Given the description of an element on the screen output the (x, y) to click on. 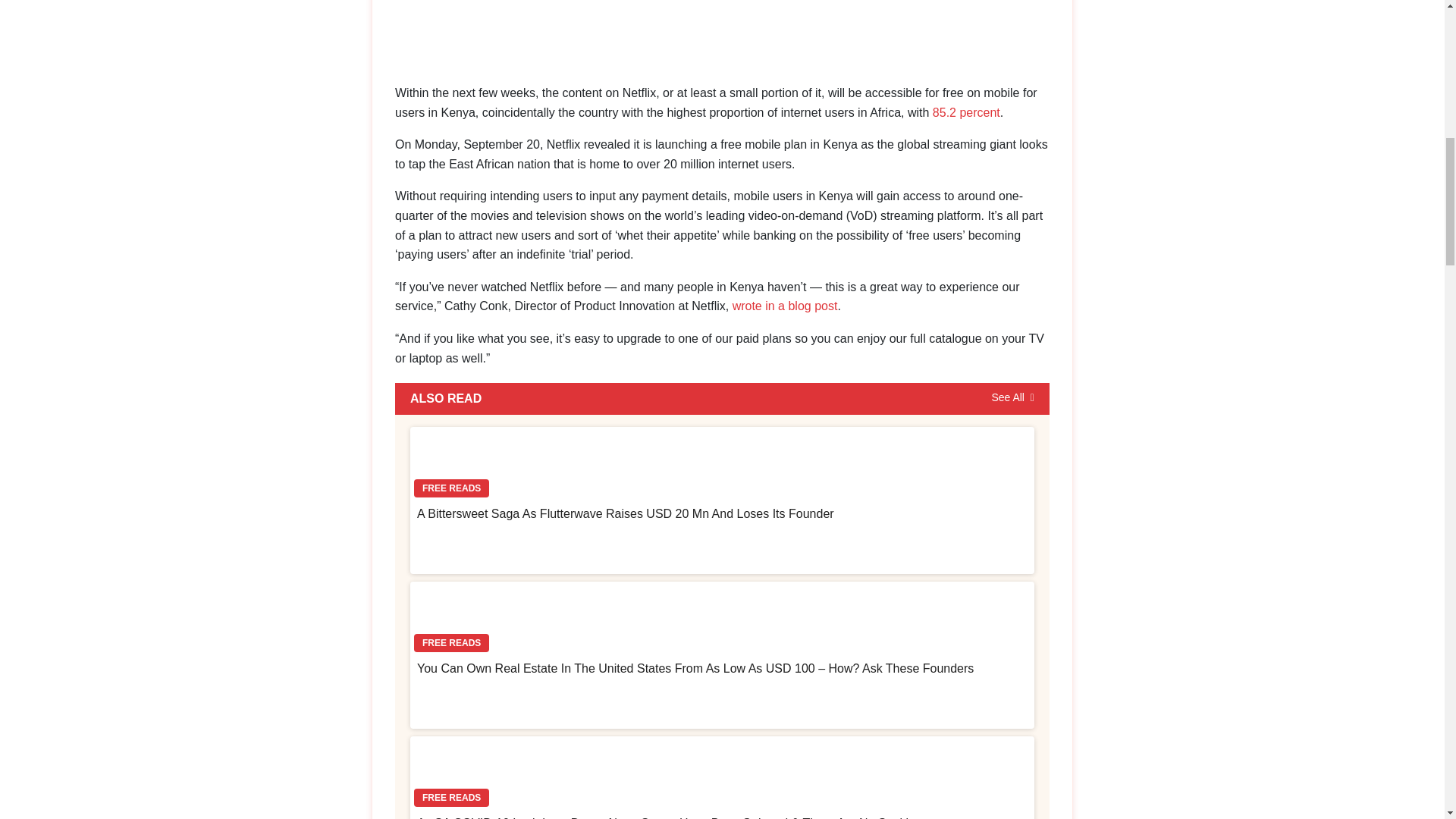
FREE READS (721, 774)
wrote in a blog post (785, 305)
85.2 percent (966, 112)
FREE READS (721, 464)
See All (1012, 398)
FREE READS (721, 619)
